Given the description of an element on the screen output the (x, y) to click on. 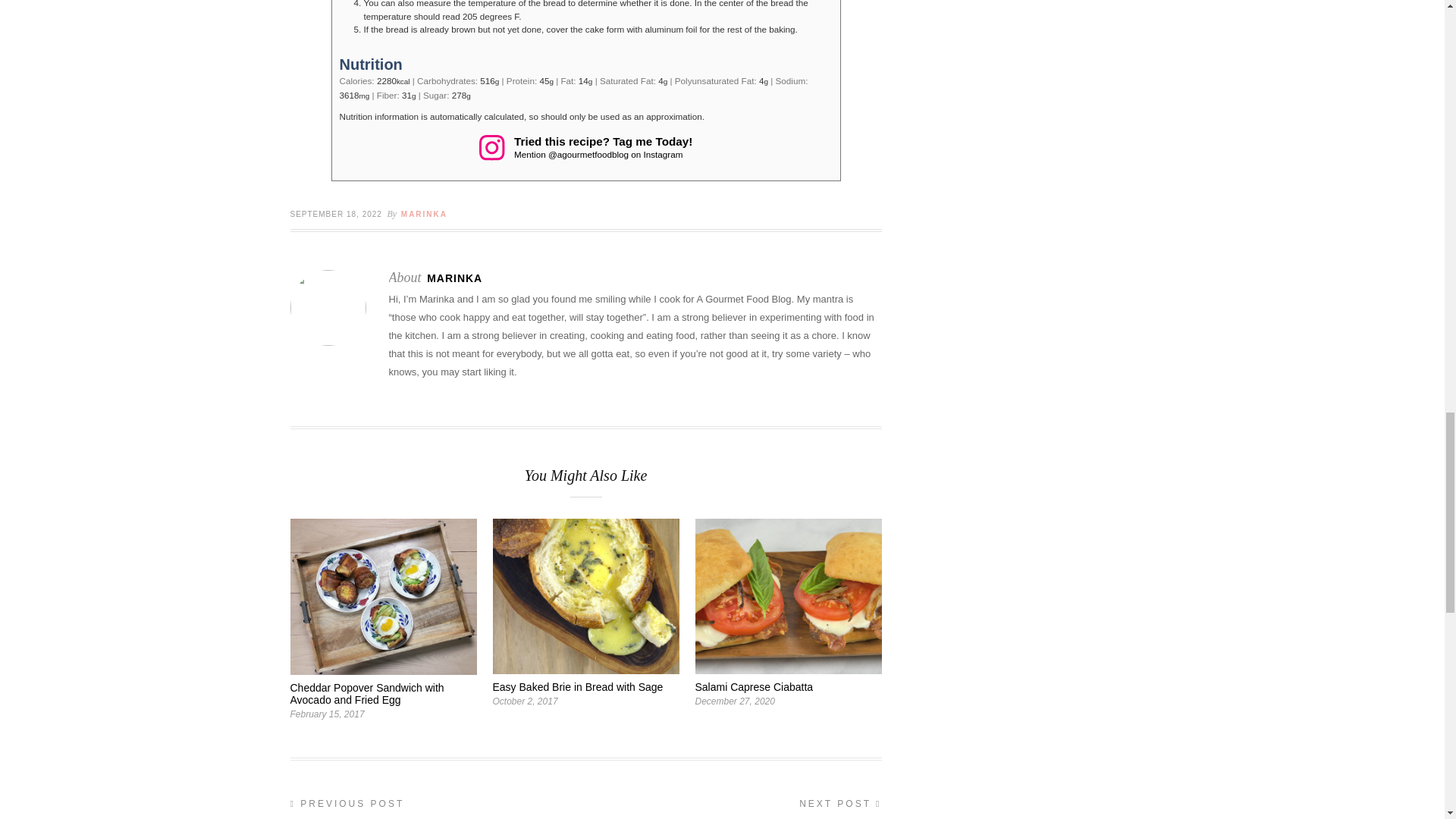
Posts by Marinka (453, 277)
Posts by Marinka (423, 213)
